Given the description of an element on the screen output the (x, y) to click on. 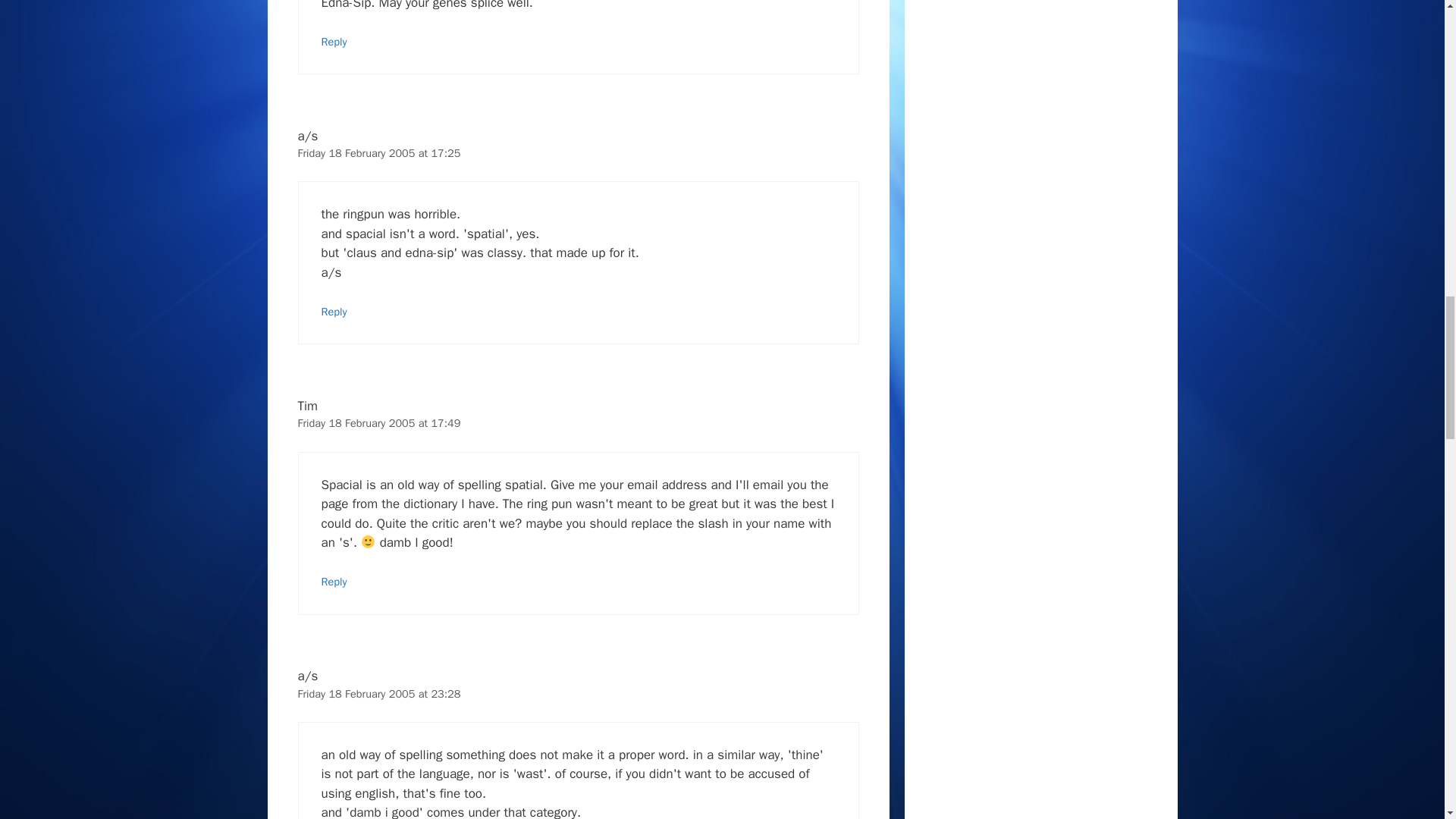
Reply (334, 581)
Reply (334, 41)
Friday 18 February 2005 at 23:28 (378, 694)
Friday 18 February 2005 at 17:25 (378, 152)
Reply (334, 311)
Friday 18 February 2005 at 17:49 (378, 422)
